Given the description of an element on the screen output the (x, y) to click on. 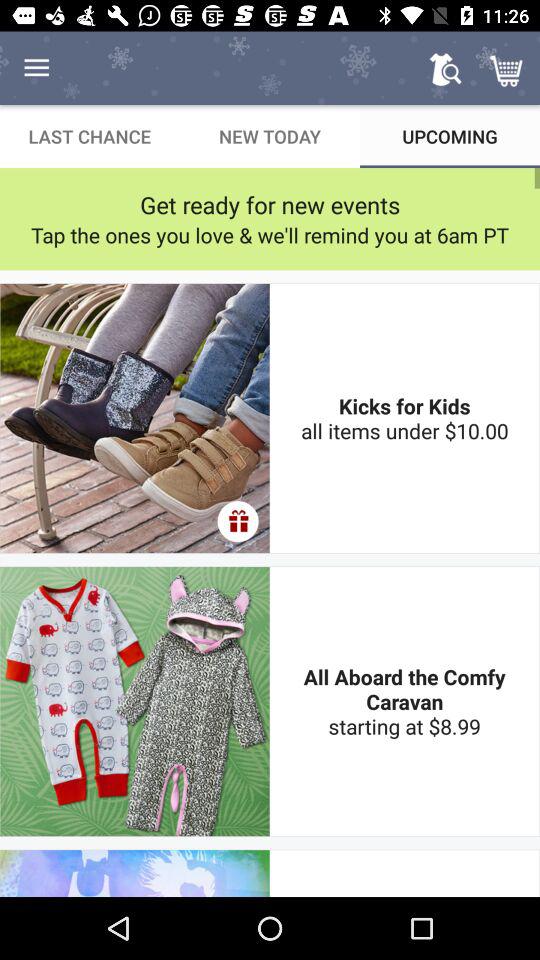
launch icon below the get ready for item (270, 234)
